Given the description of an element on the screen output the (x, y) to click on. 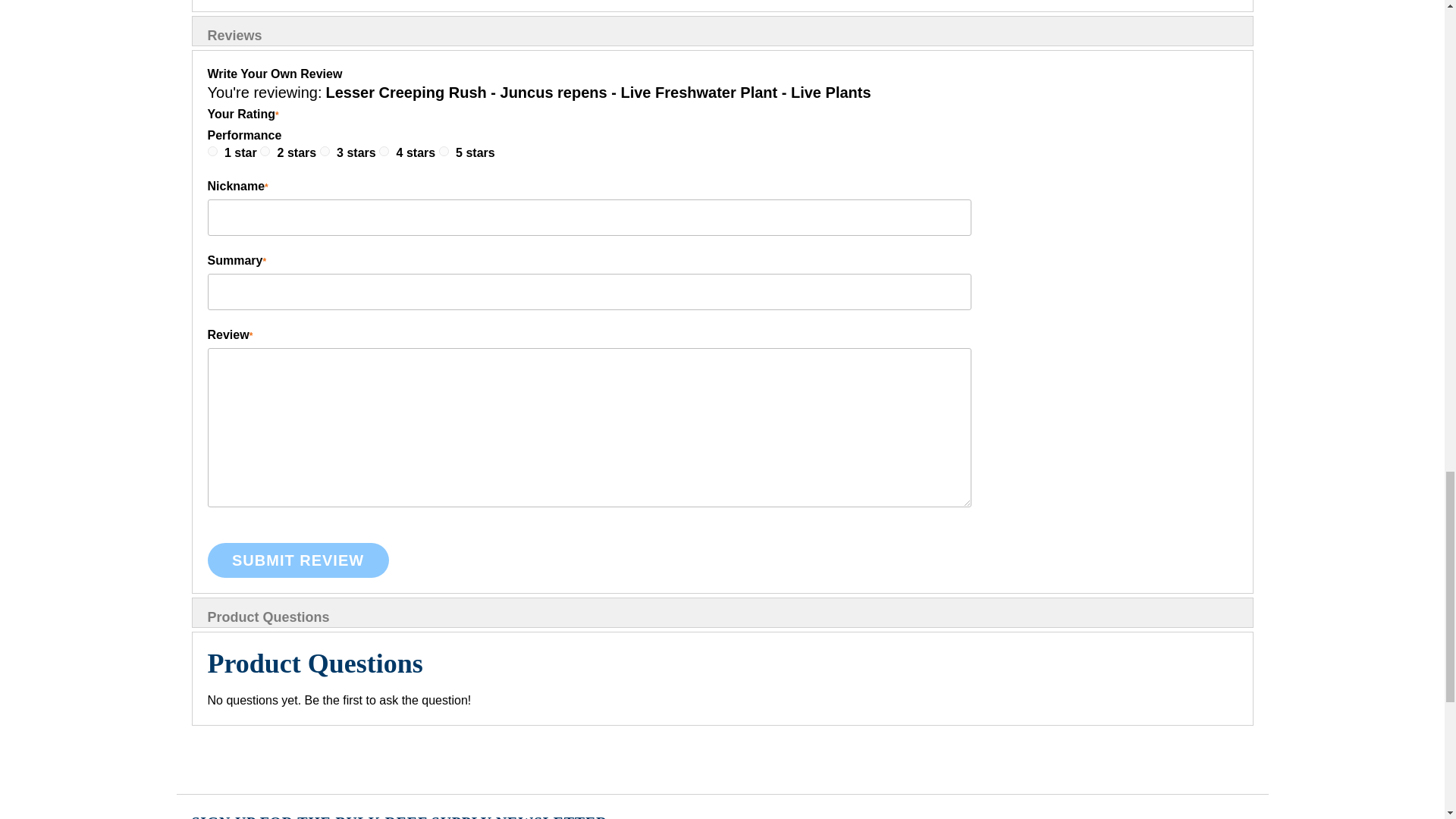
3 stars (357, 152)
9 (383, 151)
6 (212, 151)
8 (325, 151)
1 star (242, 152)
5 stars (475, 152)
2 stars (299, 152)
10 (443, 151)
7 (264, 151)
4 stars (417, 152)
